Given the description of an element on the screen output the (x, y) to click on. 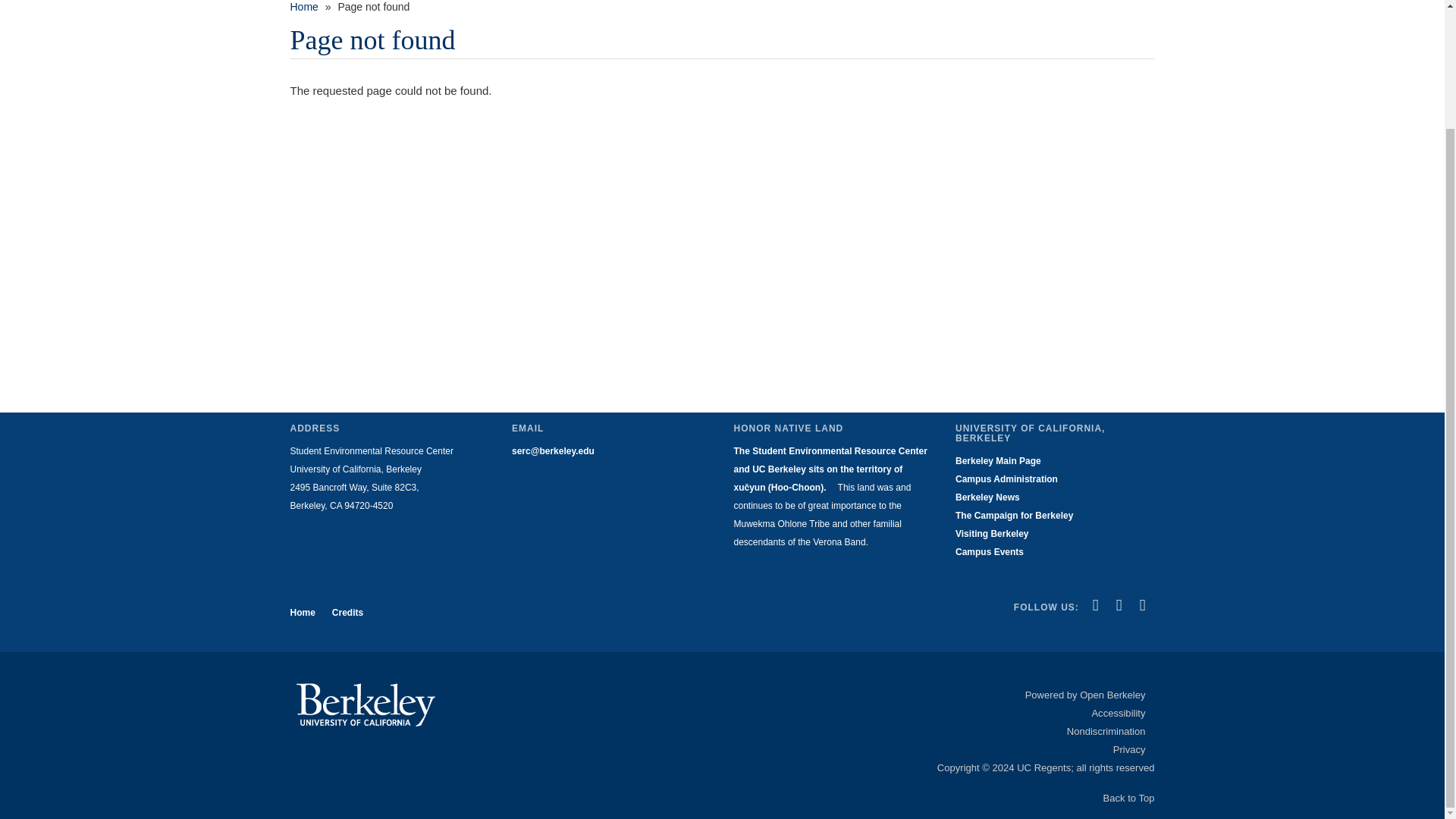
Facebook (1095, 604)
Home (305, 612)
Back to Top (1128, 797)
LinkedIn (1118, 604)
Instagram (1142, 604)
Home (303, 6)
Credits (347, 612)
